Given the description of an element on the screen output the (x, y) to click on. 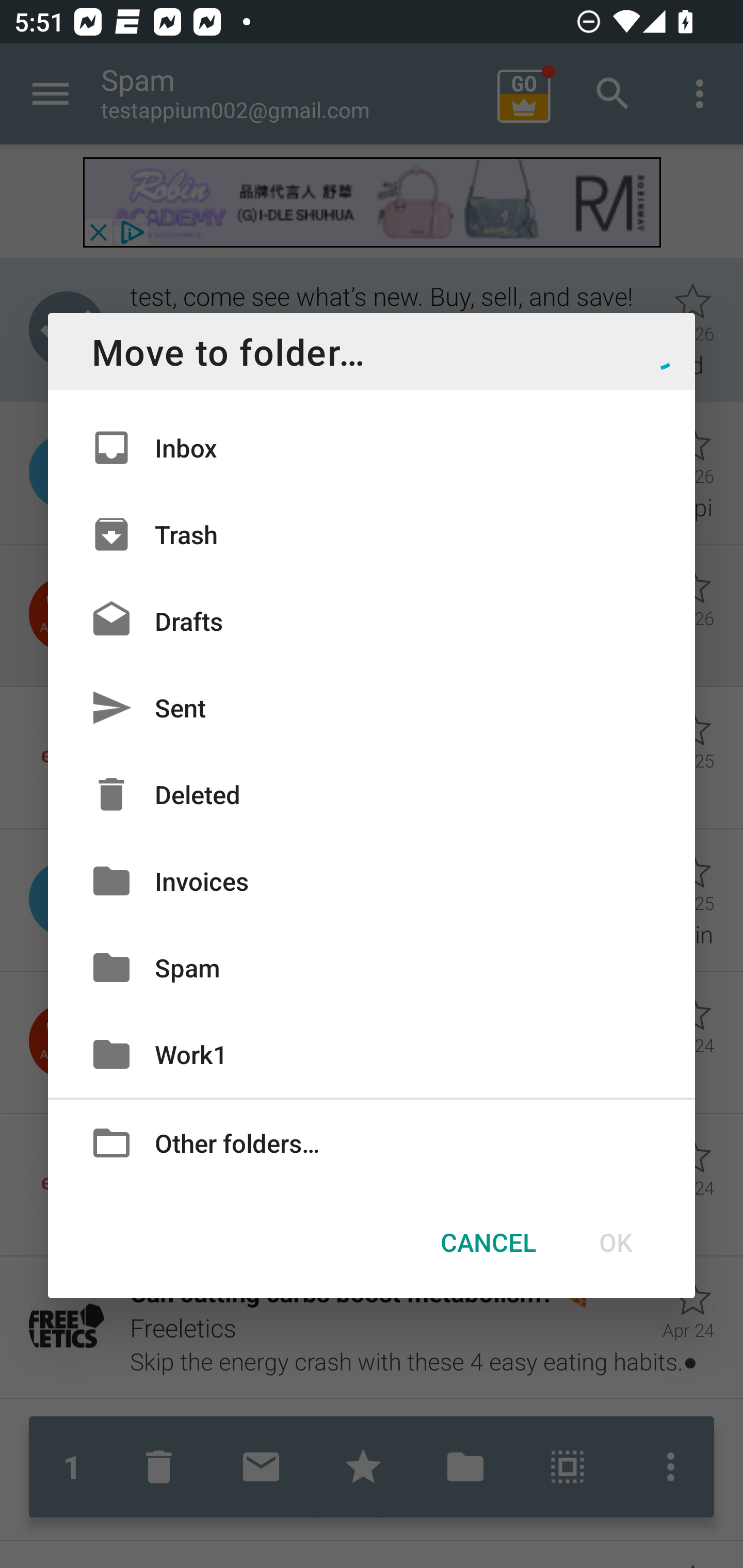
Inbox (371, 447)
Trash (371, 533)
Drafts (371, 620)
Sent (371, 707)
Deleted (371, 794)
Invoices (371, 880)
Spam (371, 967)
Work1 (371, 1054)
Other folders… (371, 1141)
CANCEL (488, 1241)
OK (615, 1241)
